Given the description of an element on the screen output the (x, y) to click on. 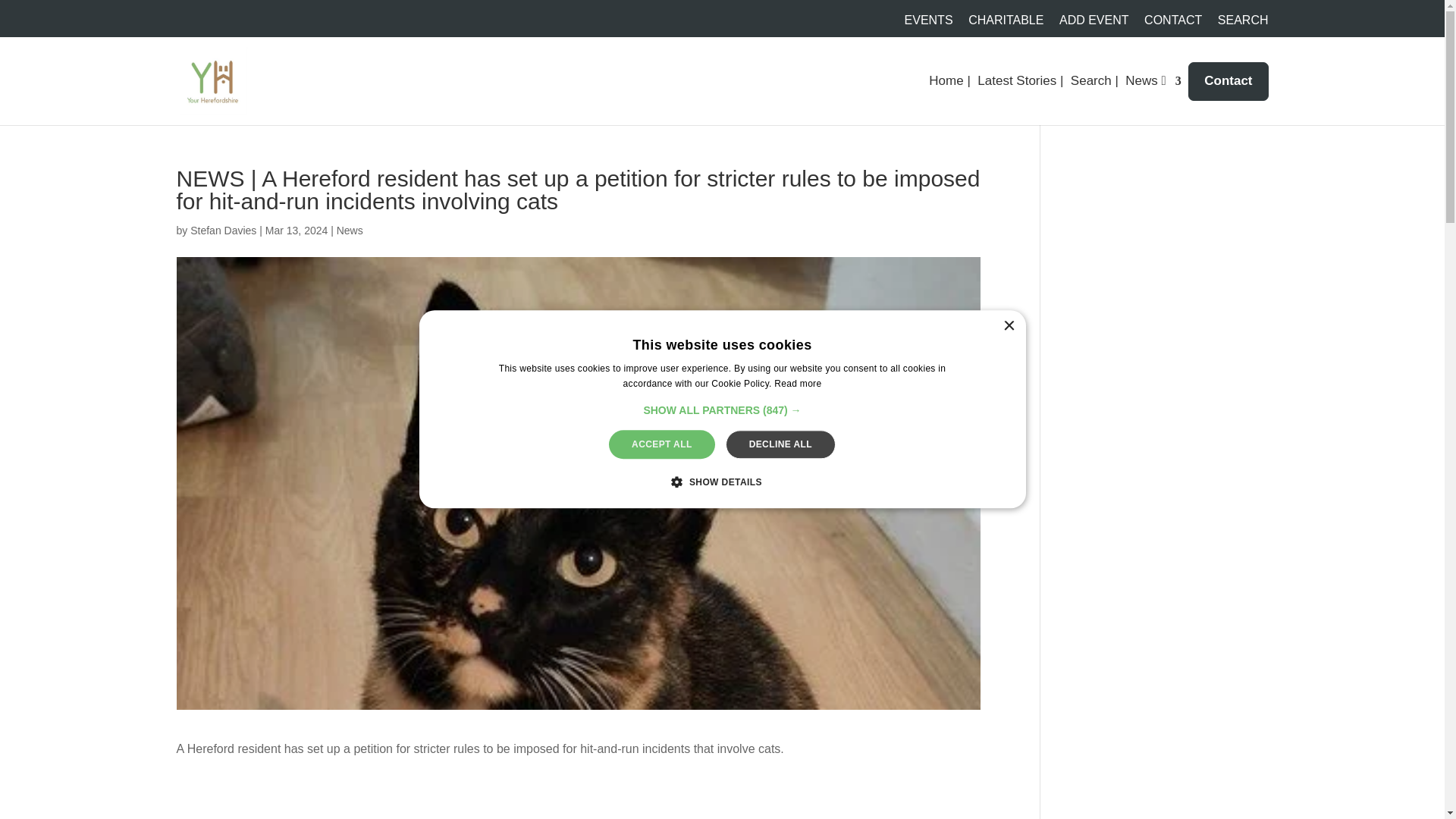
CHARITABLE (1005, 24)
ADD EVENT (1094, 24)
News (349, 230)
SEARCH (1242, 24)
Stefan Davies (223, 230)
CONTACT (1173, 24)
Contact (1228, 81)
EVENTS (928, 24)
Posts by Stefan Davies (223, 230)
